Given the description of an element on the screen output the (x, y) to click on. 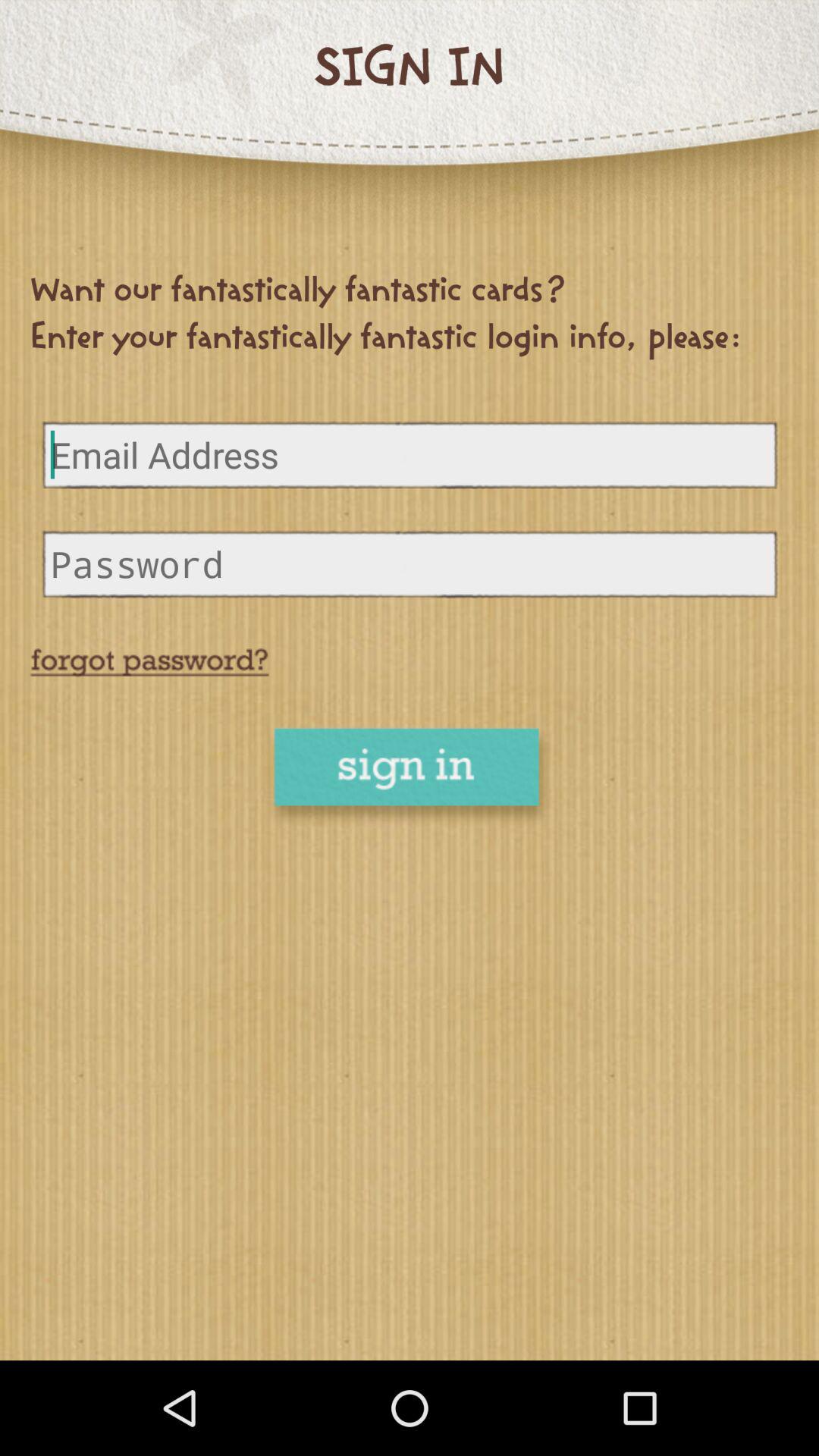
press item on the left (149, 662)
